Given the description of an element on the screen output the (x, y) to click on. 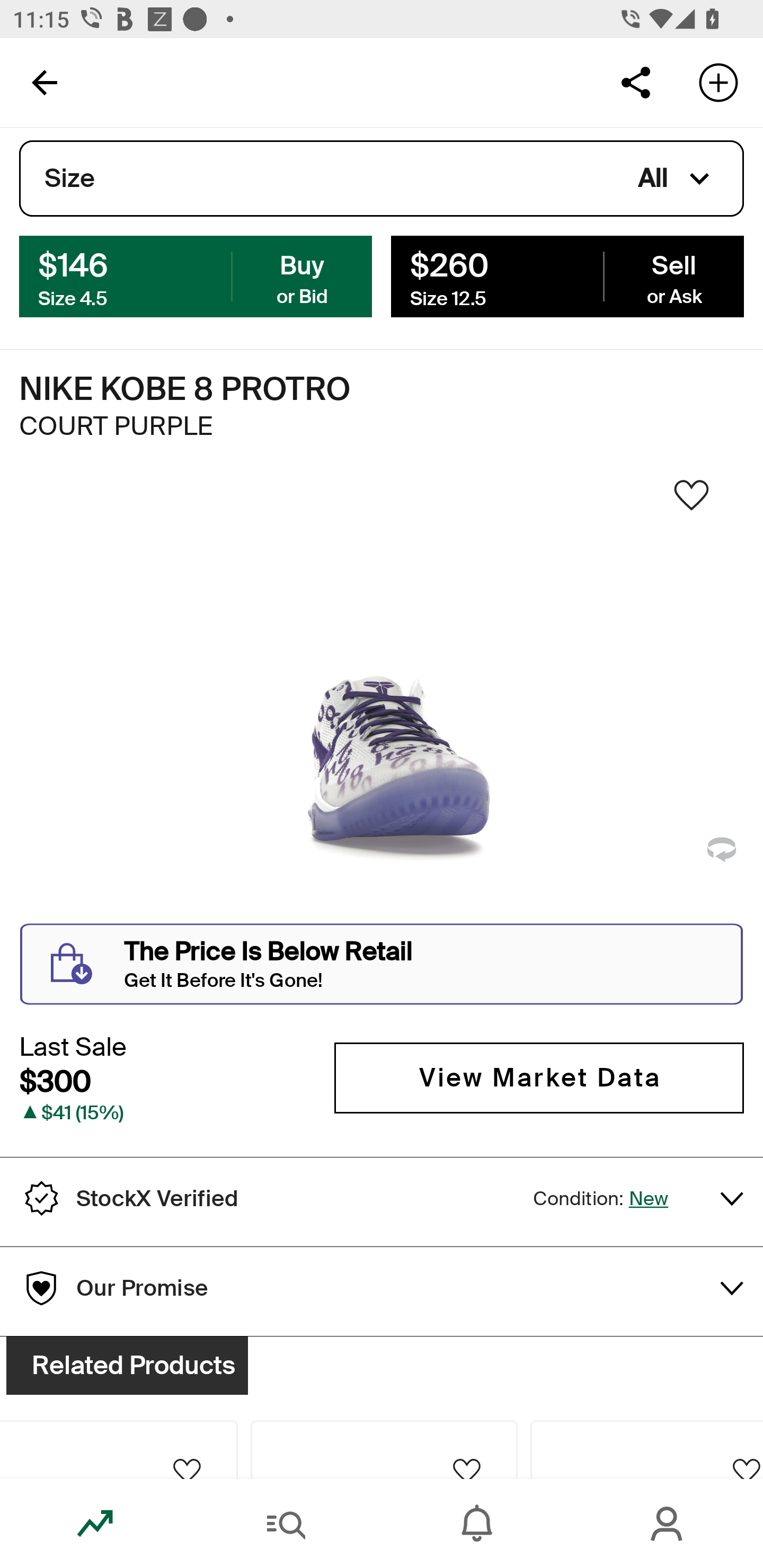
Share (635, 81)
Add (718, 81)
Size All (381, 178)
$146 Buy Size 4.5 or Bid (195, 275)
$260 Sell Size 12.5 or Ask (566, 275)
Sneaker Image (381, 699)
View Market Data (538, 1077)
Search (285, 1523)
Inbox (476, 1523)
Account (667, 1523)
